Given the description of an element on the screen output the (x, y) to click on. 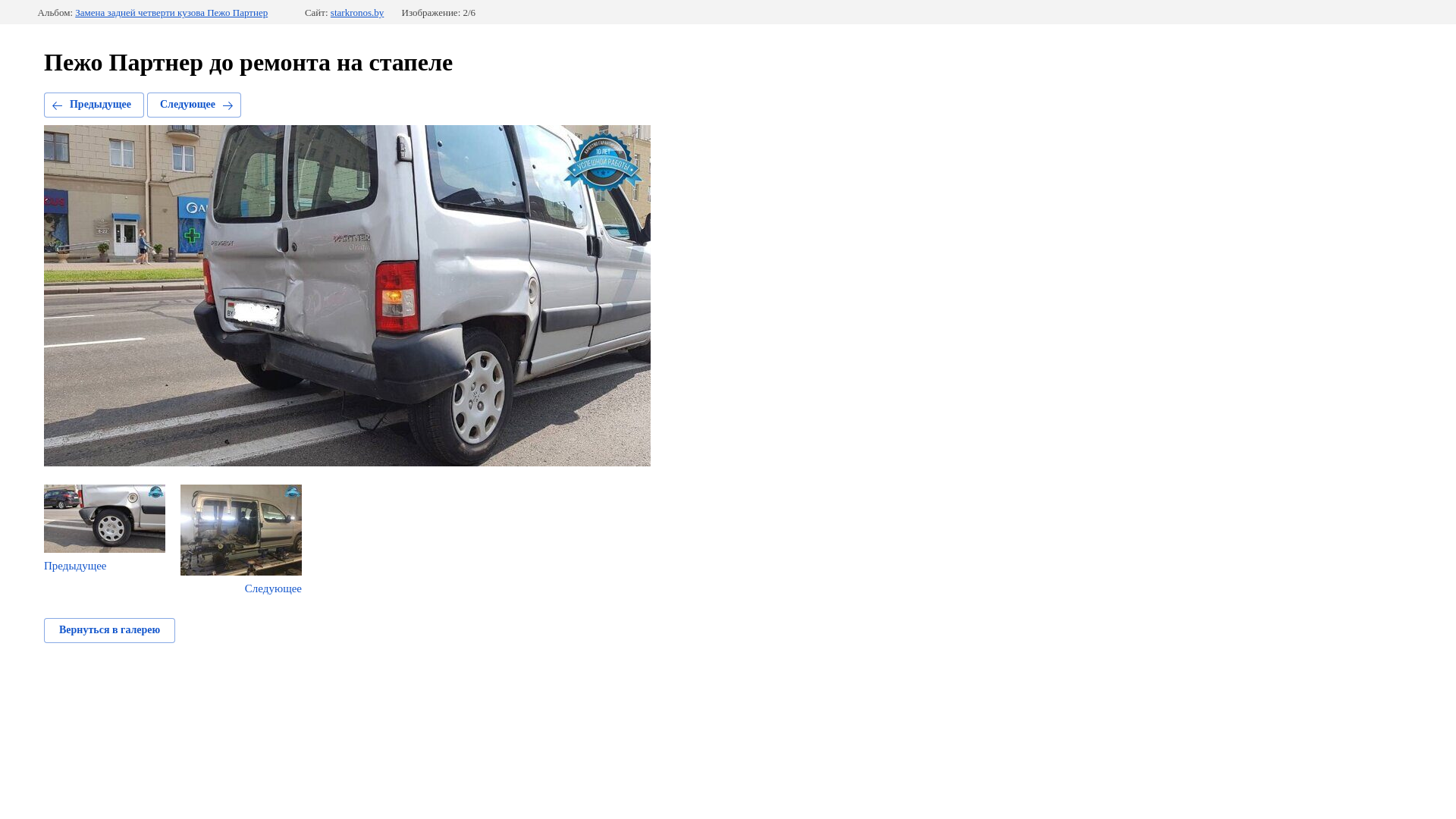
starkronos.by Element type: text (356, 12)
